Given the description of an element on the screen output the (x, y) to click on. 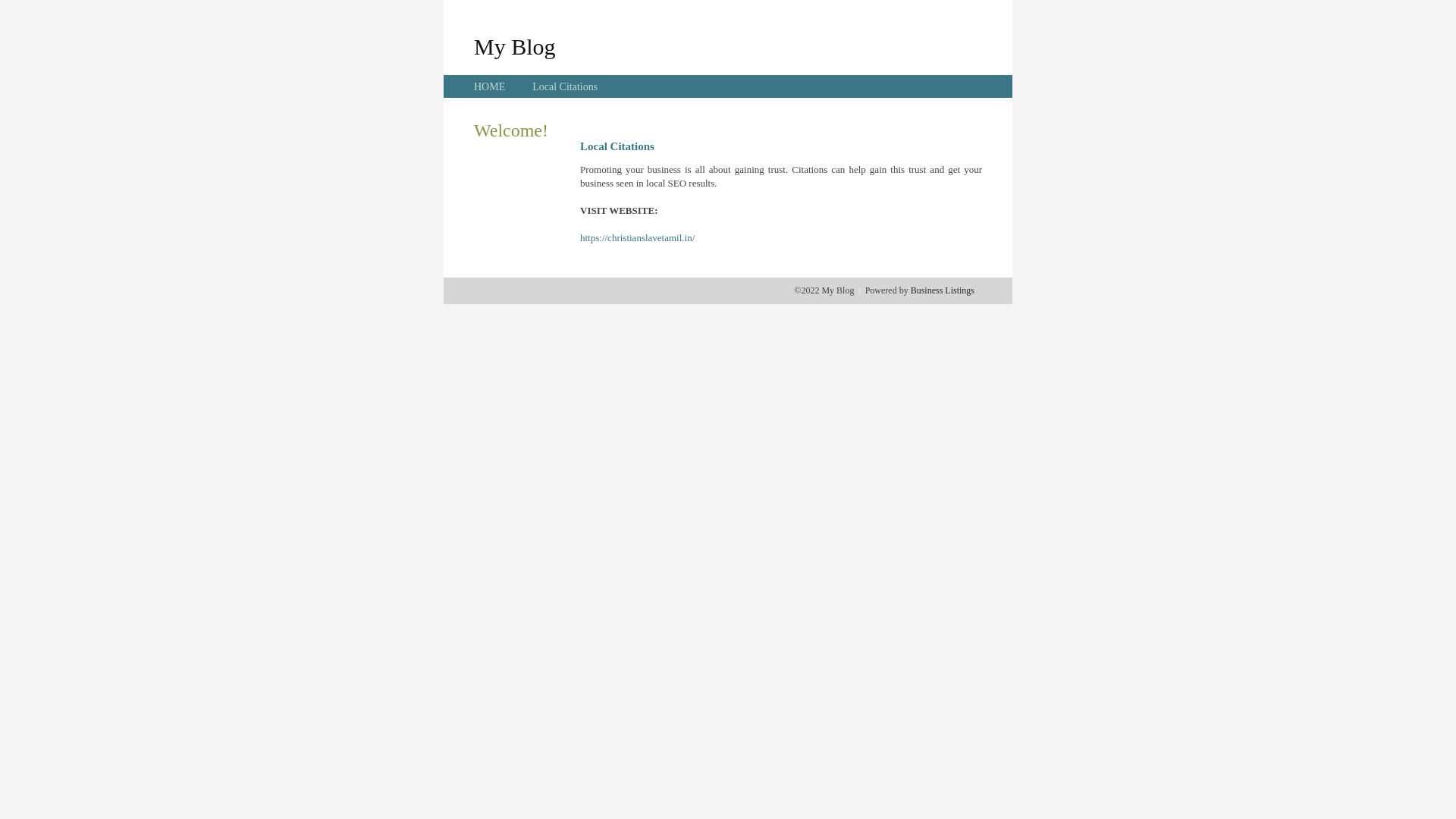
Business Listings Element type: text (942, 290)
https://christianslavetamil.in/ Element type: text (637, 237)
My Blog Element type: text (514, 46)
Local Citations Element type: text (564, 86)
HOME Element type: text (489, 86)
